Given the description of an element on the screen output the (x, y) to click on. 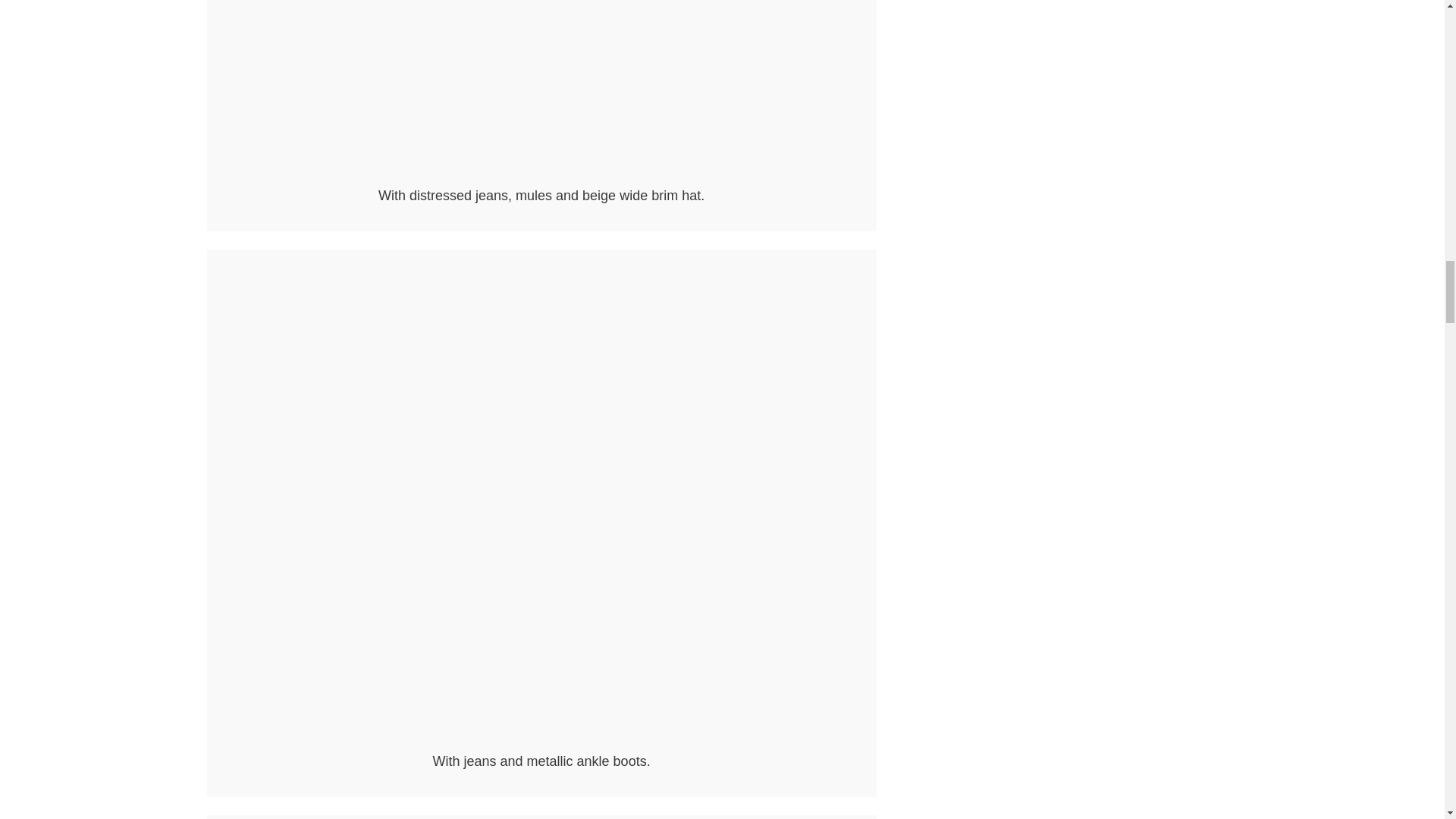
With jeans and metallic ankle boots (541, 741)
With distressed jeans, mules and beige wide brim hat (541, 175)
With distressed jeans, mules and beige wide brim hat (541, 90)
